Given the description of an element on the screen output the (x, y) to click on. 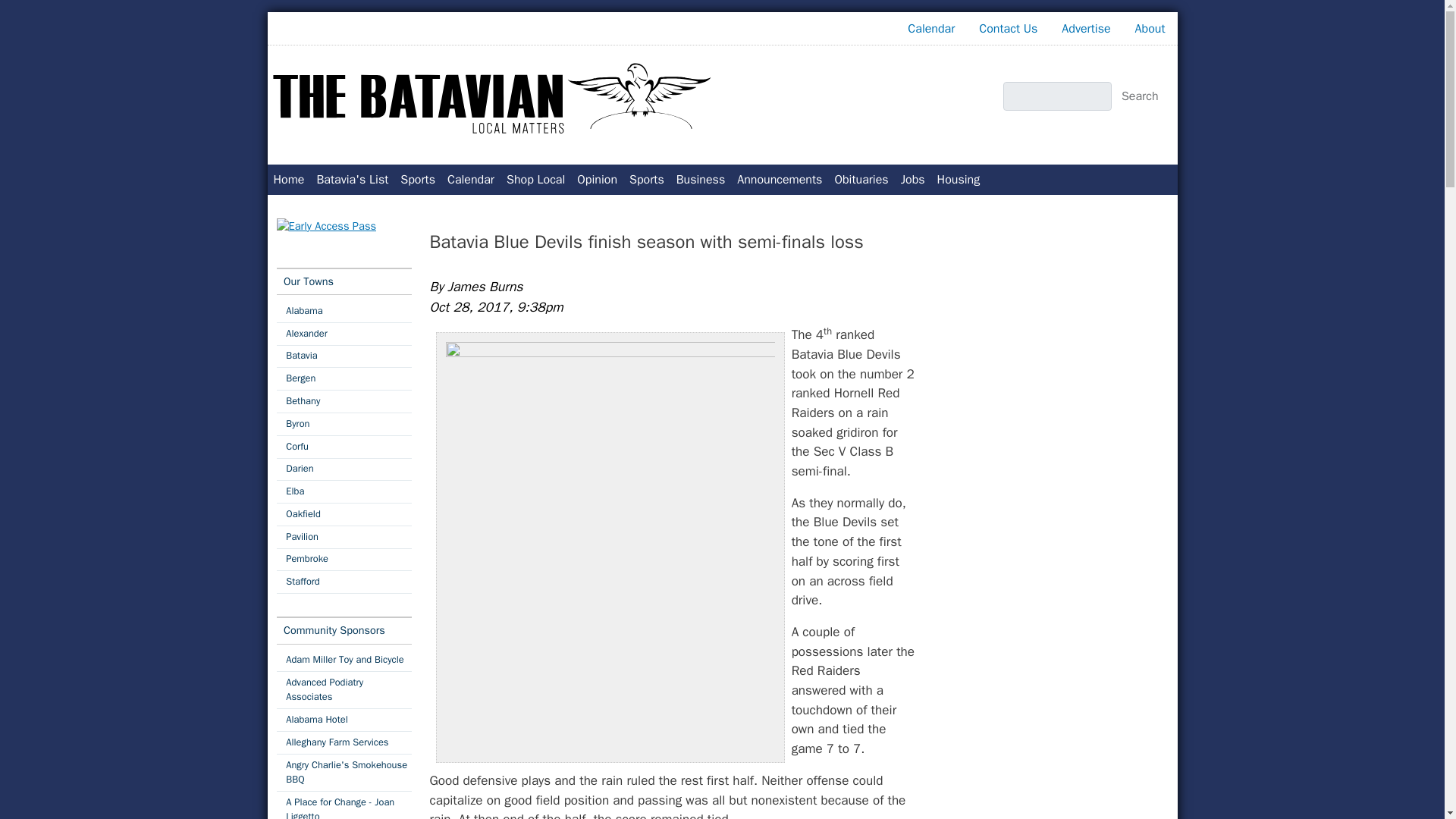
Obituaries (860, 179)
Alexander (343, 333)
Home (494, 98)
Shop Local (535, 179)
Elba (343, 491)
Business (700, 179)
Opinion (596, 179)
About (1149, 28)
Saturday, October 28, 2017 - 9:38pm (495, 306)
Contact Us (1007, 28)
